Given the description of an element on the screen output the (x, y) to click on. 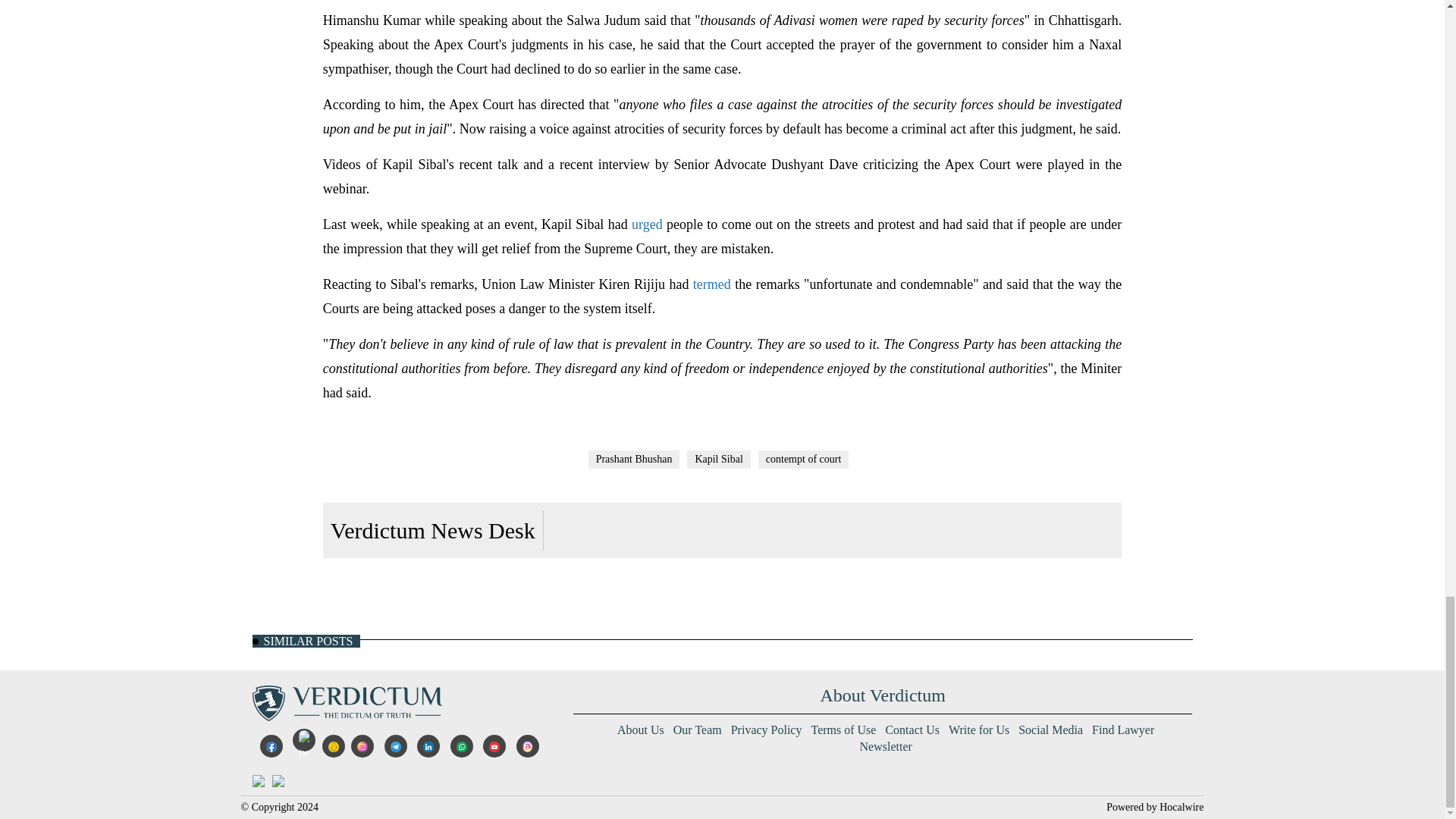
Verdictum (346, 702)
